Given the description of an element on the screen output the (x, y) to click on. 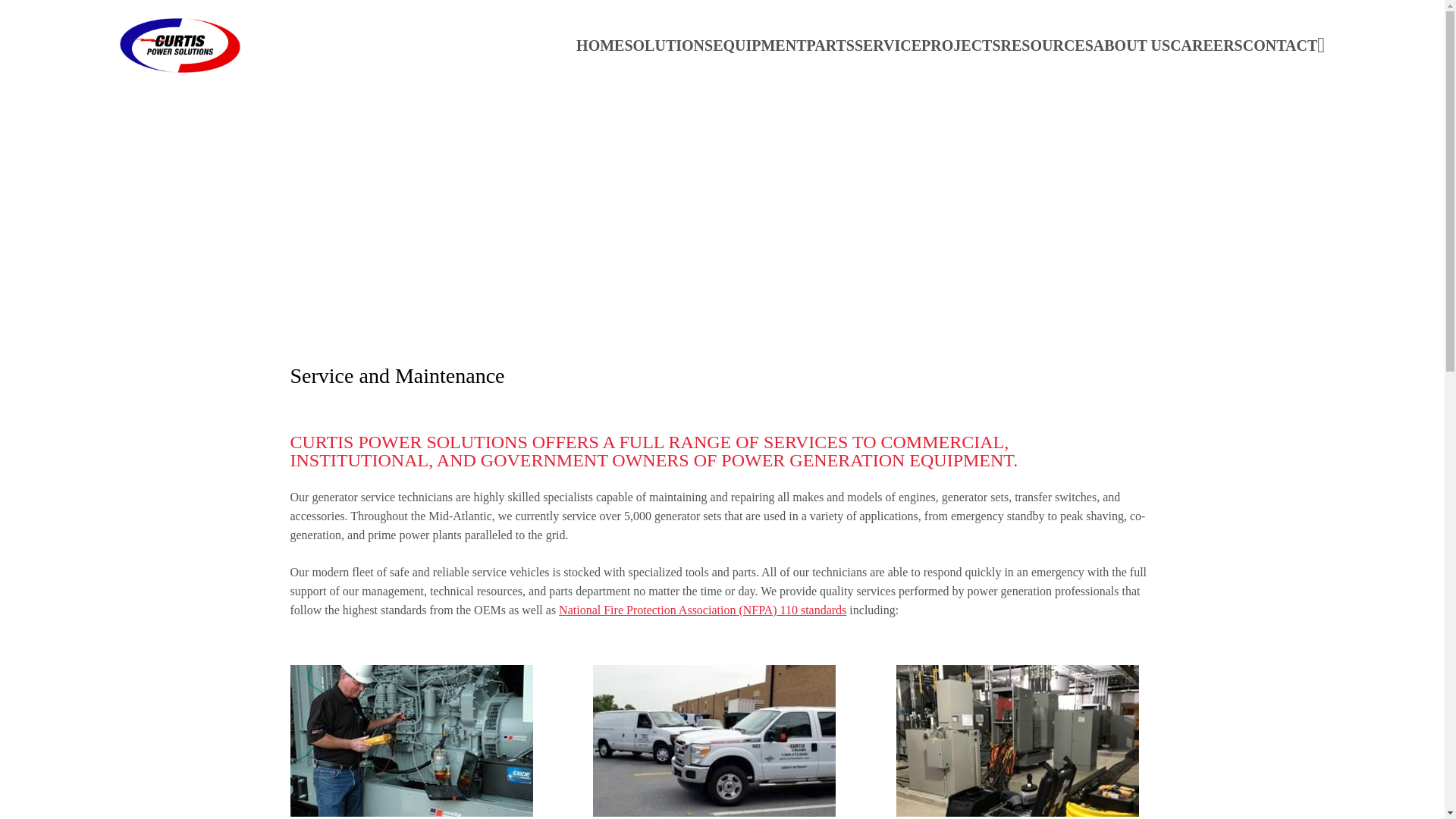
SOLUTIONS (668, 45)
RESOURCES (1047, 45)
CONTACT (1280, 45)
PROJECTS (960, 45)
SERVICE (887, 45)
HOME (600, 45)
PARTS (829, 45)
ABOUT US (1131, 45)
EQUIPMENT (759, 45)
CAREERS (1206, 45)
